Given the description of an element on the screen output the (x, y) to click on. 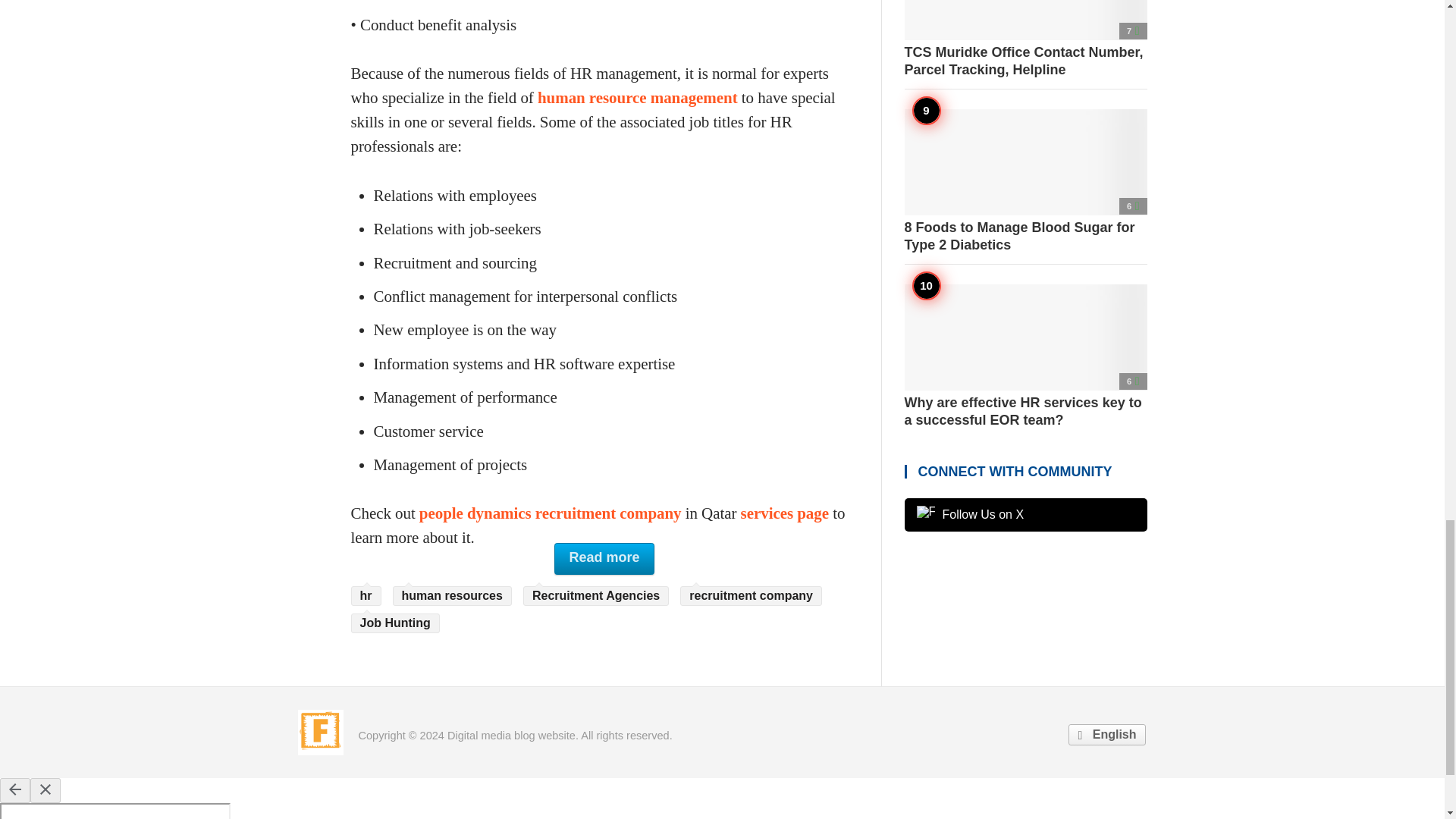
8 Foods to Manage Blood Sugar for Type 2 Diabetics (1025, 180)
TCS Muridke Office Contact Number, Parcel Tracking, Helpline (1025, 38)
Why are effective HR services key to a successful EOR team? (1025, 356)
